Given the description of an element on the screen output the (x, y) to click on. 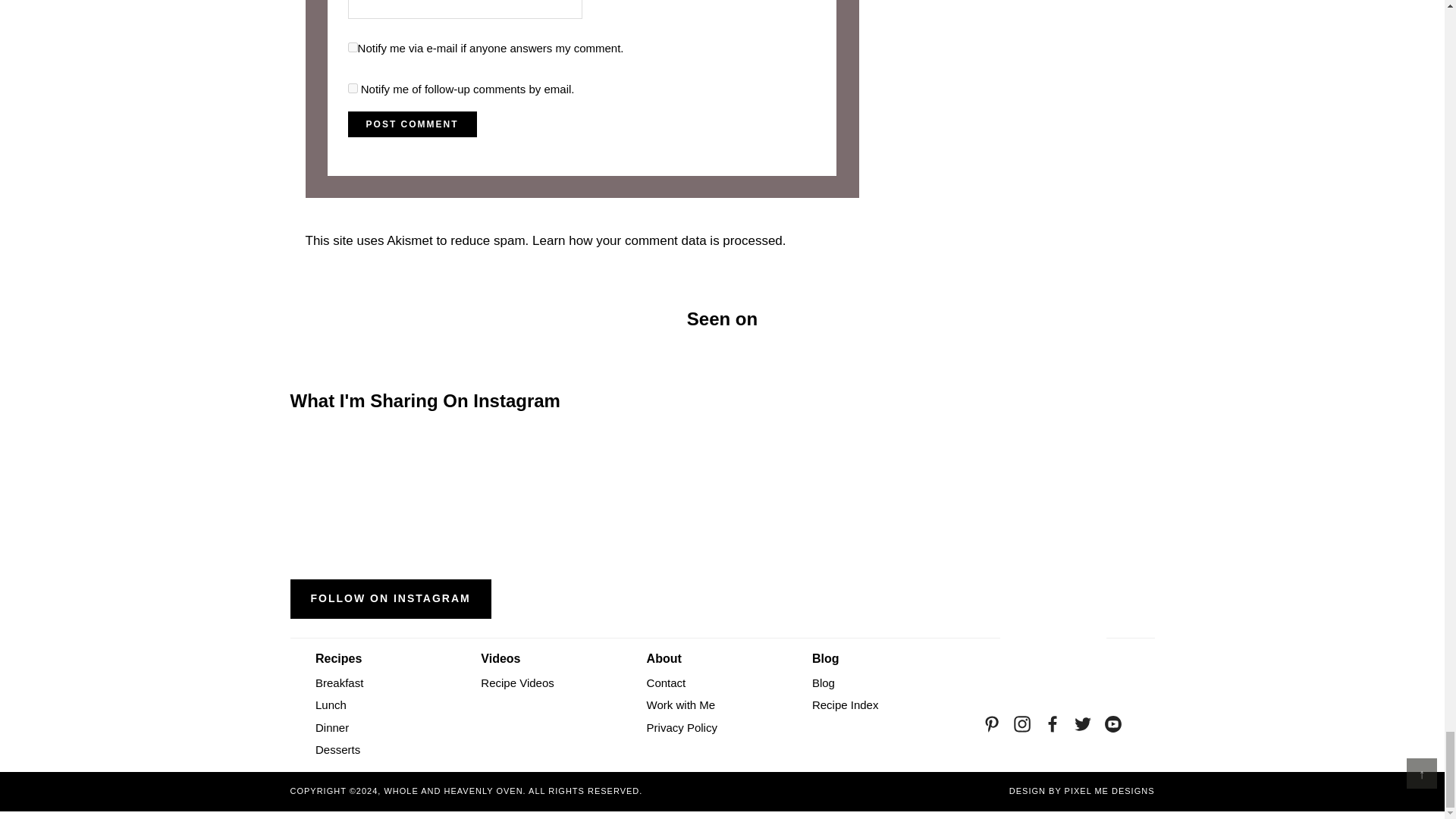
on (352, 47)
Post Comment (412, 124)
subscribe (352, 88)
